Given the description of an element on the screen output the (x, y) to click on. 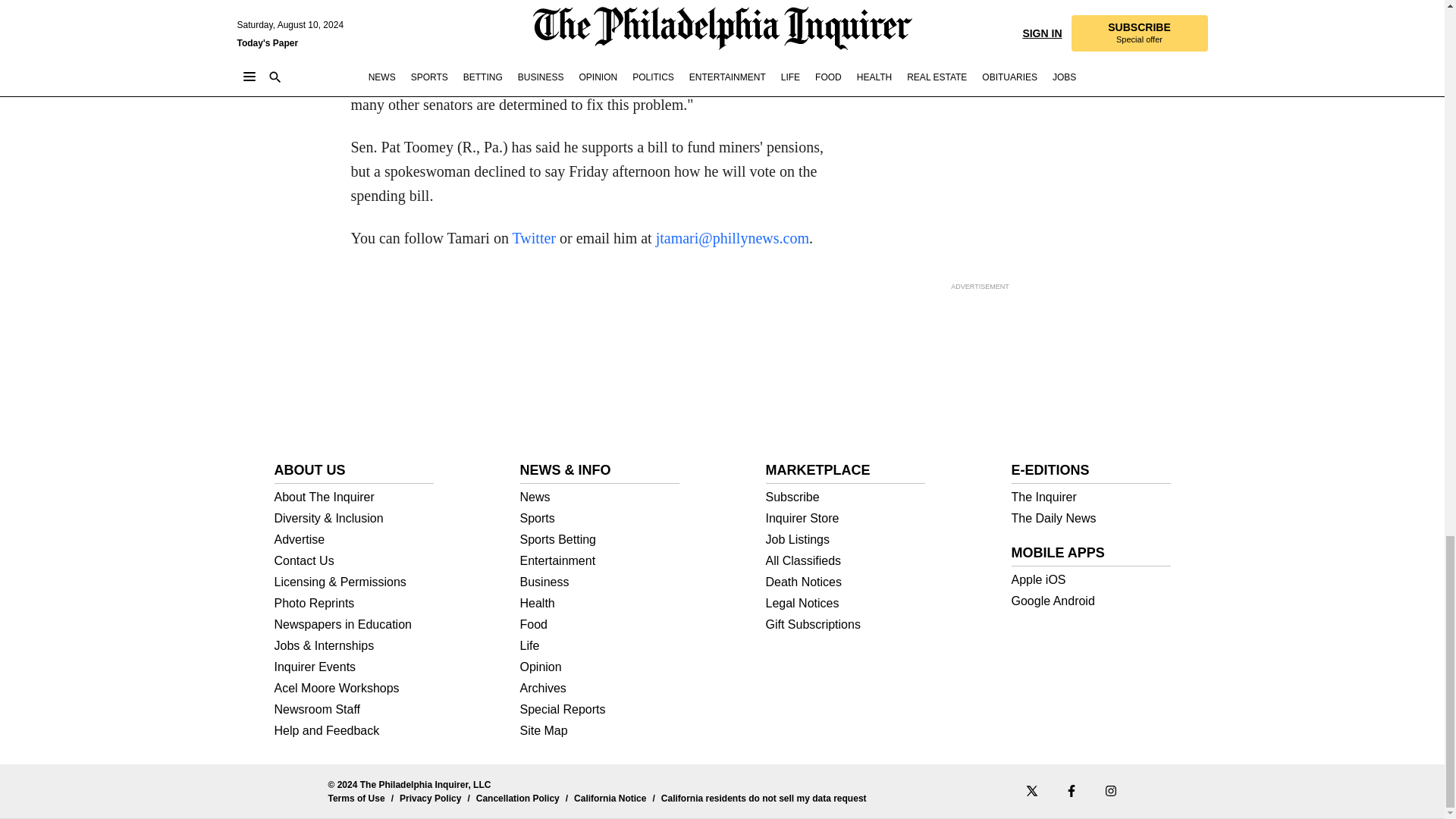
About The Inquirer (354, 497)
Facebook (1070, 790)
X (1030, 790)
Instagram (1109, 790)
Twitter (534, 238)
